Given the description of an element on the screen output the (x, y) to click on. 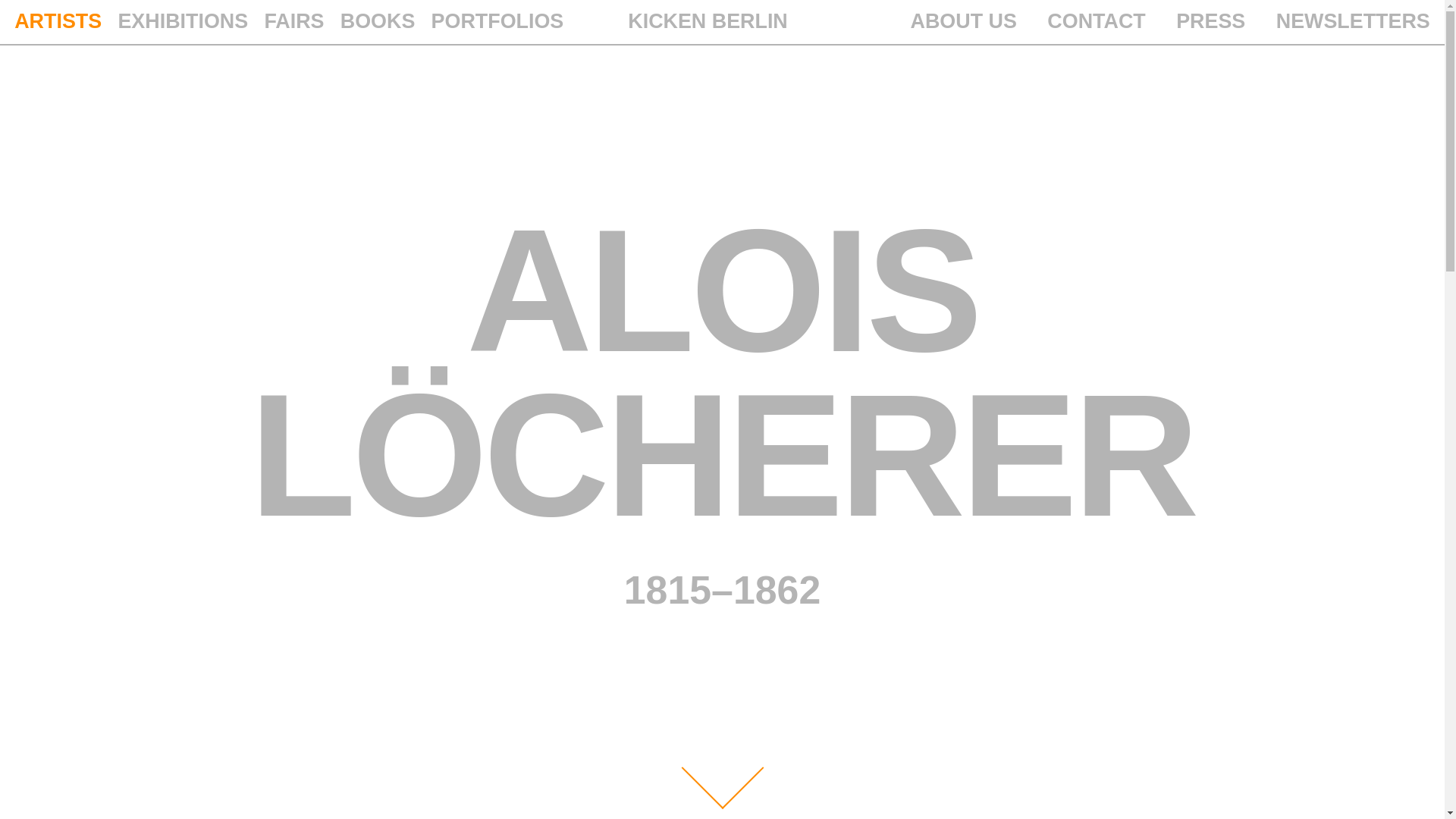
PORTFOLIOS (497, 20)
NEWSLETTERS (1352, 20)
ABOUT US (963, 20)
ARTISTS (57, 20)
CONTACT (1095, 20)
EXHIBITIONS (182, 20)
BOOKS (377, 20)
FAIRS (293, 20)
PRESS (1210, 20)
KICKEN BERLIN (707, 20)
